Given the description of an element on the screen output the (x, y) to click on. 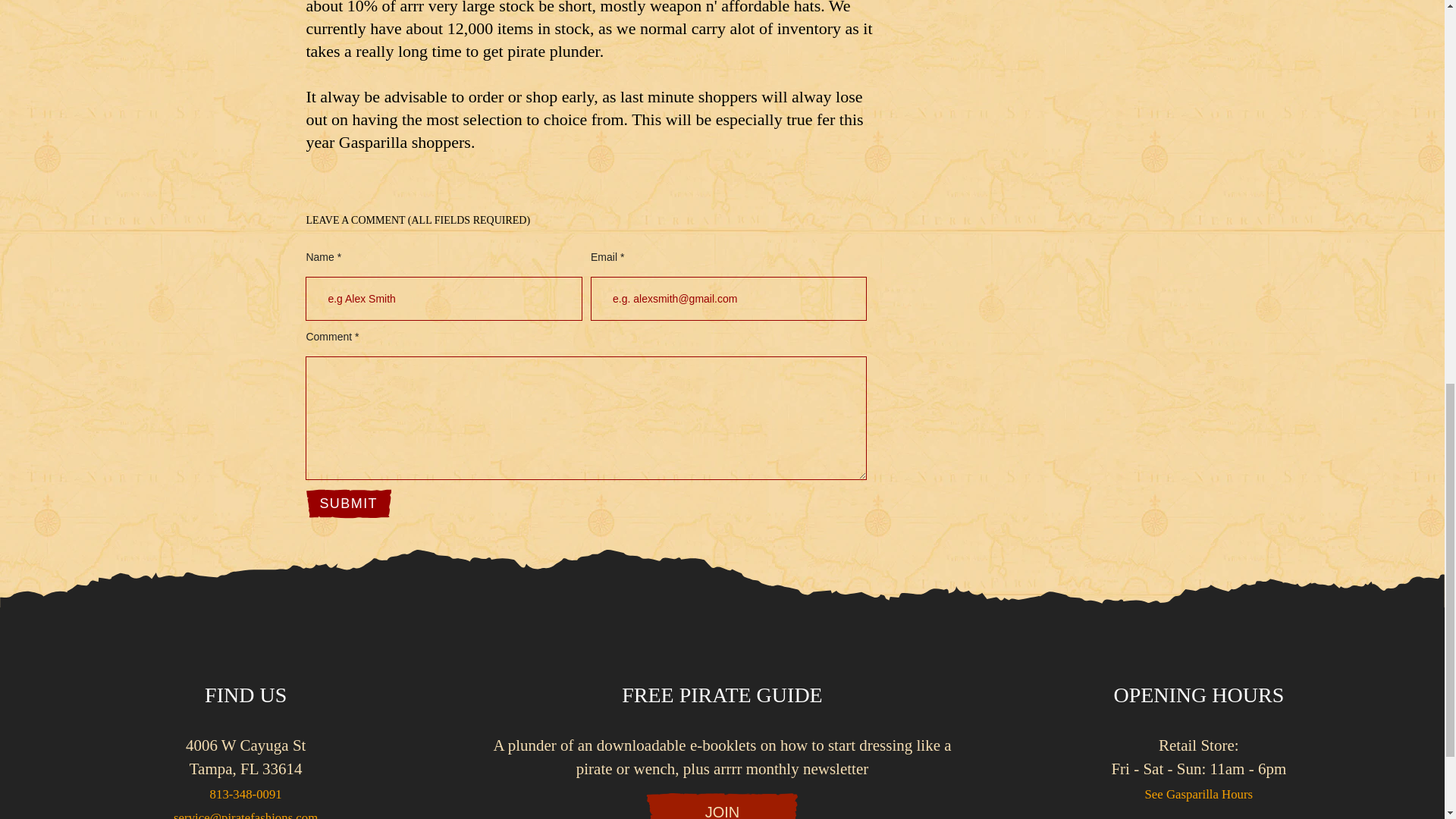
Submit (348, 503)
tel:813-348-0091 (245, 794)
